Given the description of an element on the screen output the (x, y) to click on. 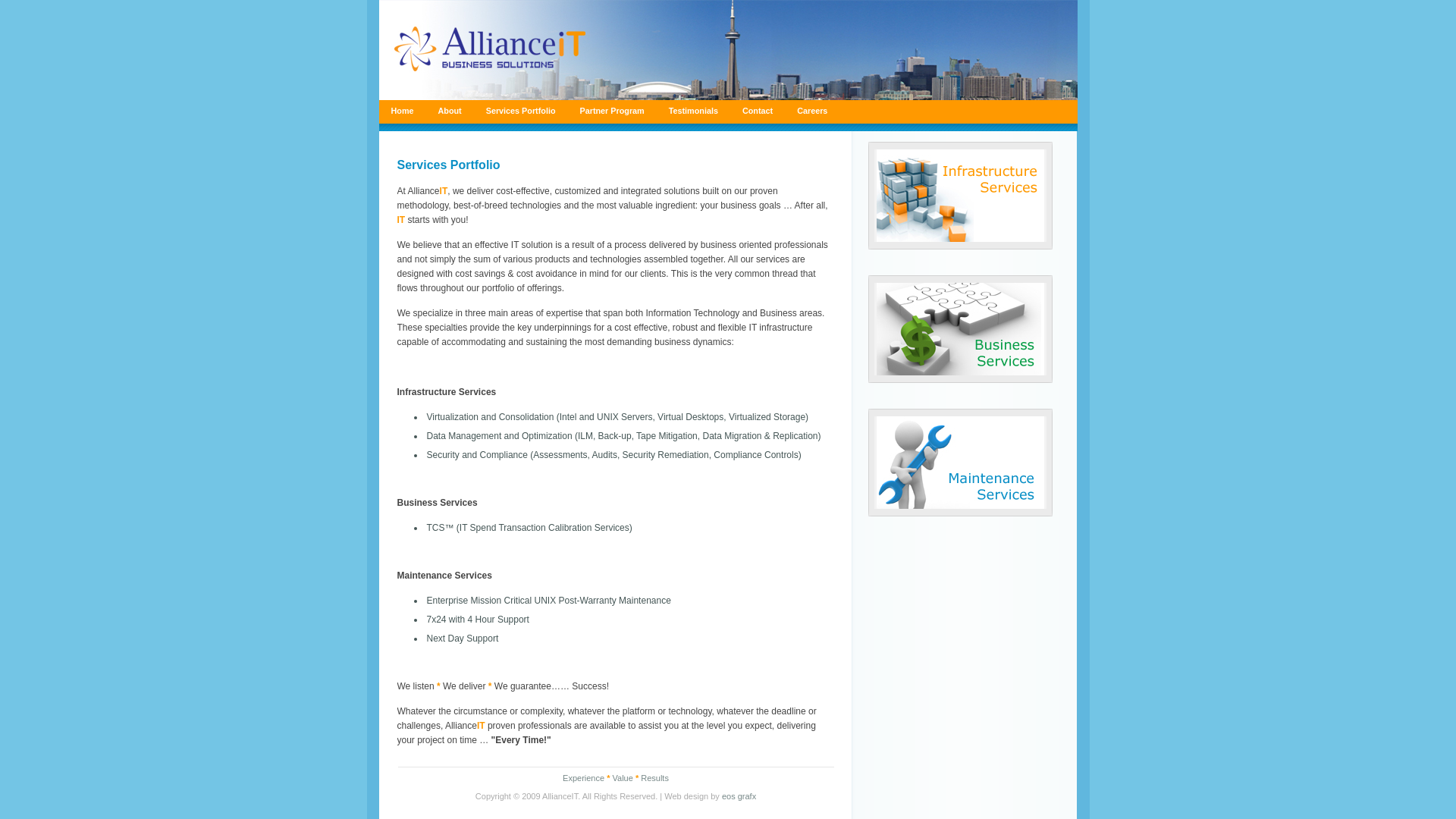
Results Element type: text (654, 777)
Services Portfolio Element type: text (520, 110)
About Element type: text (449, 110)
Careers Element type: text (811, 110)
Contact Element type: text (757, 110)
Home Element type: text (402, 110)
Value Element type: text (622, 777)
Partner Program Element type: text (611, 110)
eos grafx Element type: text (738, 795)
Testimonials Element type: text (693, 110)
Experience Element type: text (583, 777)
